Given the description of an element on the screen output the (x, y) to click on. 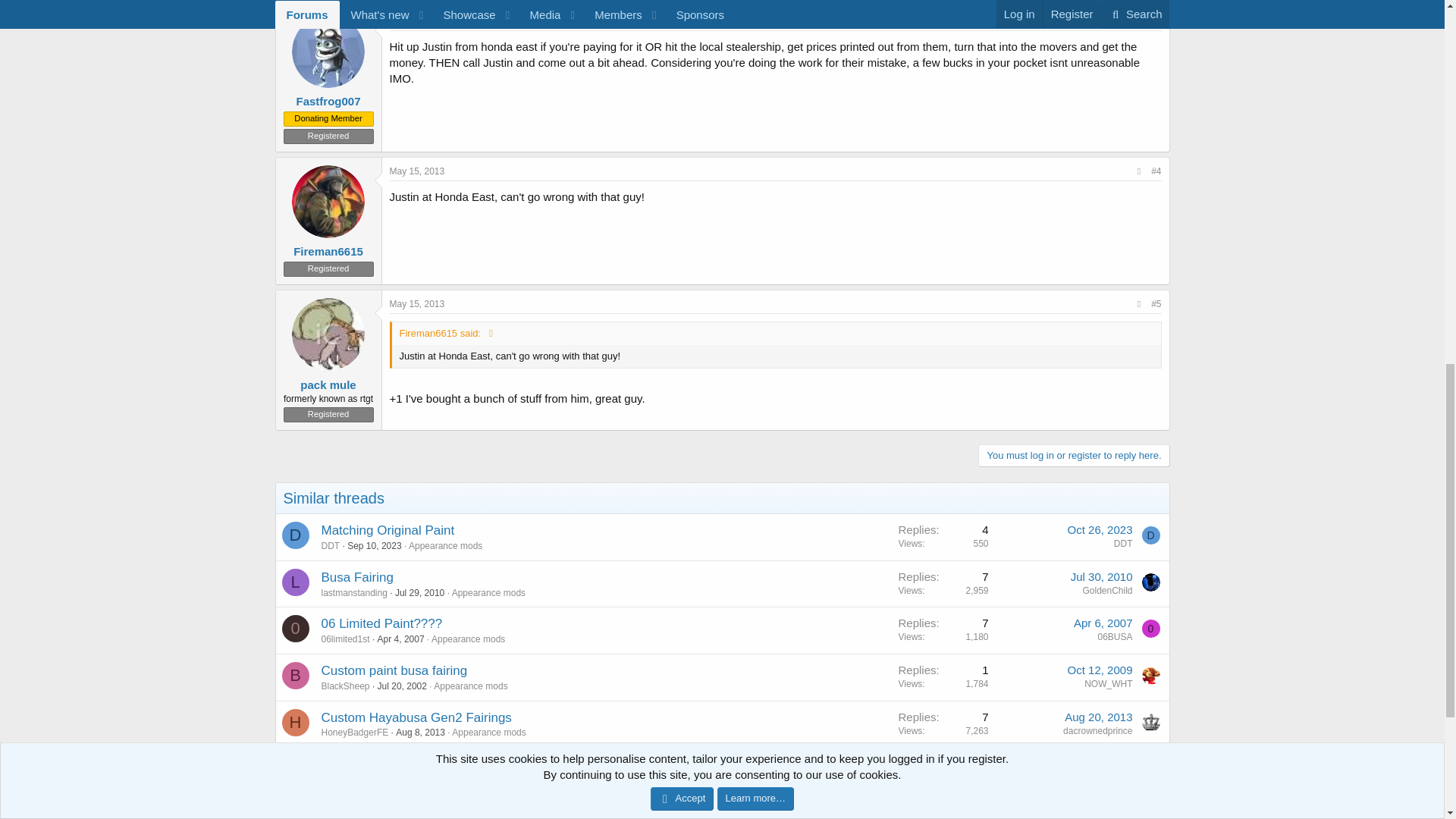
Jul 30, 2010 at 7:21 PM (1101, 576)
May 15, 2013 at 12:19 PM (417, 171)
First message reaction score: 0 (942, 583)
May 12, 2013 at 11:02 PM (417, 20)
Apr 4, 2007 at 11:41 PM (401, 638)
Jul 29, 2010 at 1:16 PM (419, 593)
May 15, 2013 at 1:45 PM (417, 303)
Sep 10, 2023 at 7:53 PM (374, 545)
First message reaction score: 2 (942, 537)
Oct 26, 2023 at 7:48 PM (1099, 529)
